Given the description of an element on the screen output the (x, y) to click on. 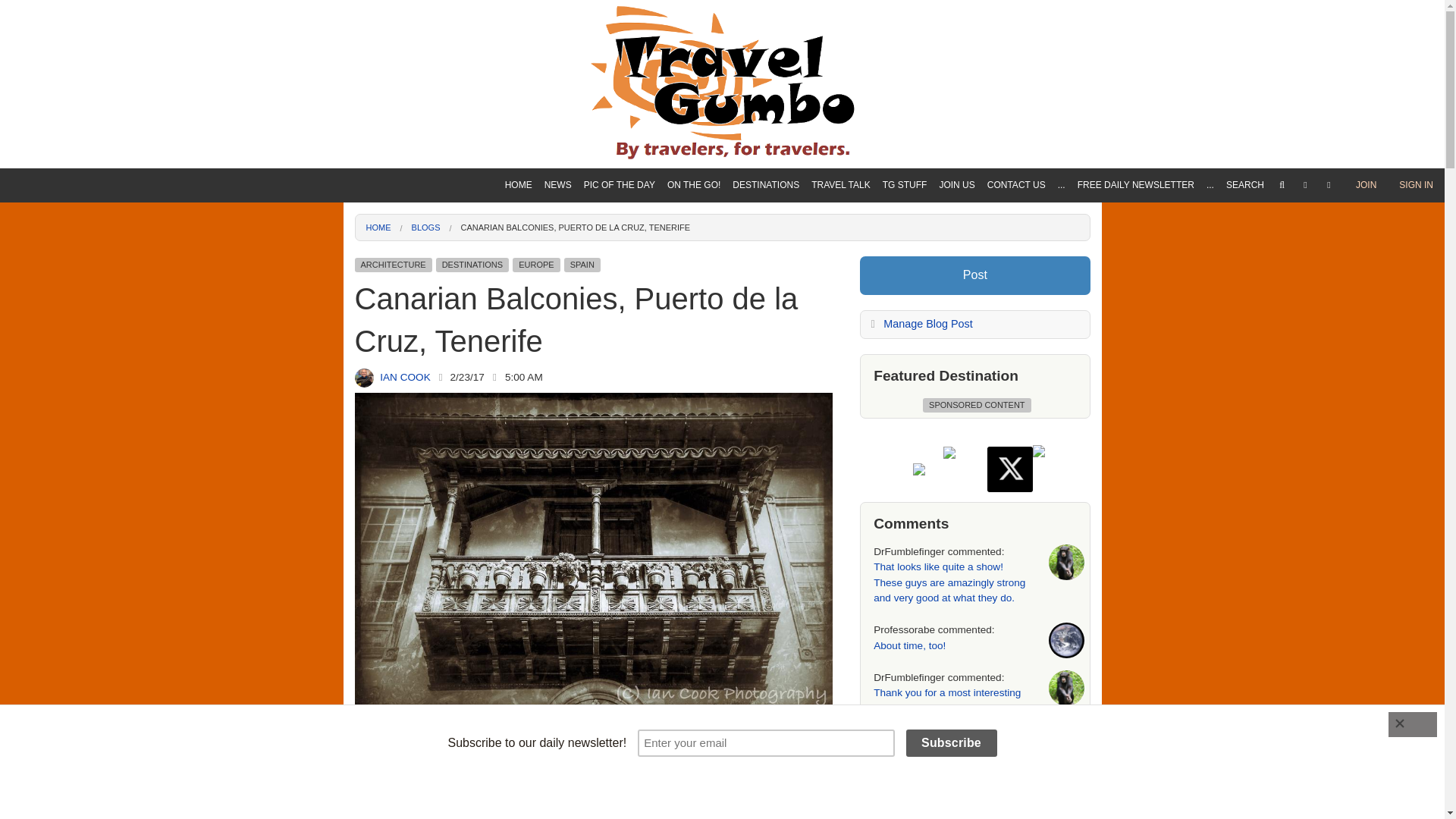
TRAVEL TALK (840, 185)
HOME (518, 185)
NORTH AMERICA AND THE CARIBBEAN (765, 322)
AFRICA (765, 215)
ON THE GO! (693, 185)
PIC OF THE DAY (619, 185)
ASIA (765, 242)
Ian Cook (364, 377)
ANTARCTICA (765, 375)
AUSTRALIA AND OCEANIA (765, 268)
CENTRAL AND SOUTH AMERICA (765, 348)
EUROPE (765, 295)
NEWS (558, 185)
DESTINATIONS (765, 185)
